Given the description of an element on the screen output the (x, y) to click on. 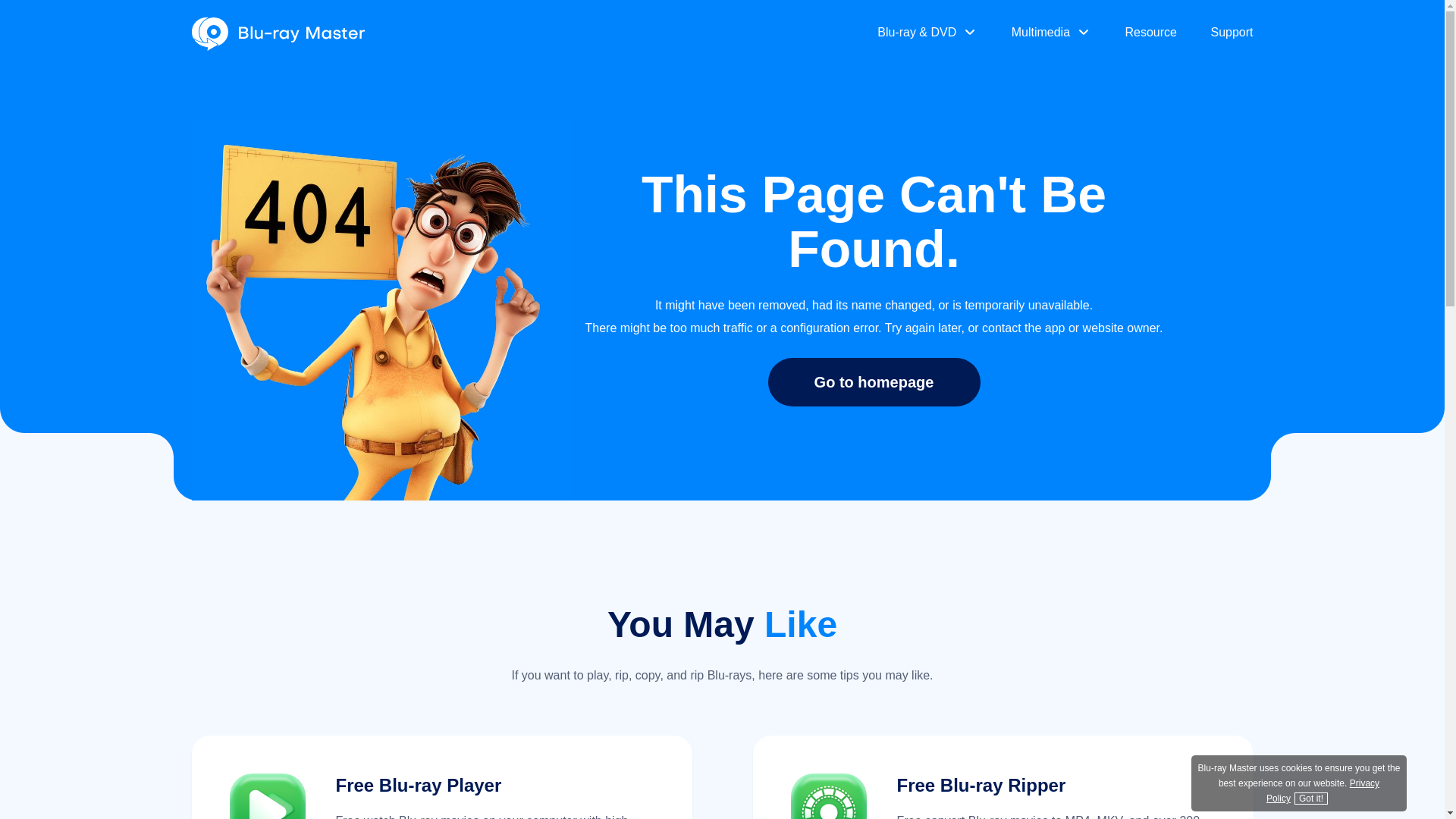
Go to homepage (873, 381)
Support (1230, 32)
Free Blu-ray Ripper (980, 784)
Free Blu-ray Player (417, 784)
Resource (1150, 32)
